Given the description of an element on the screen output the (x, y) to click on. 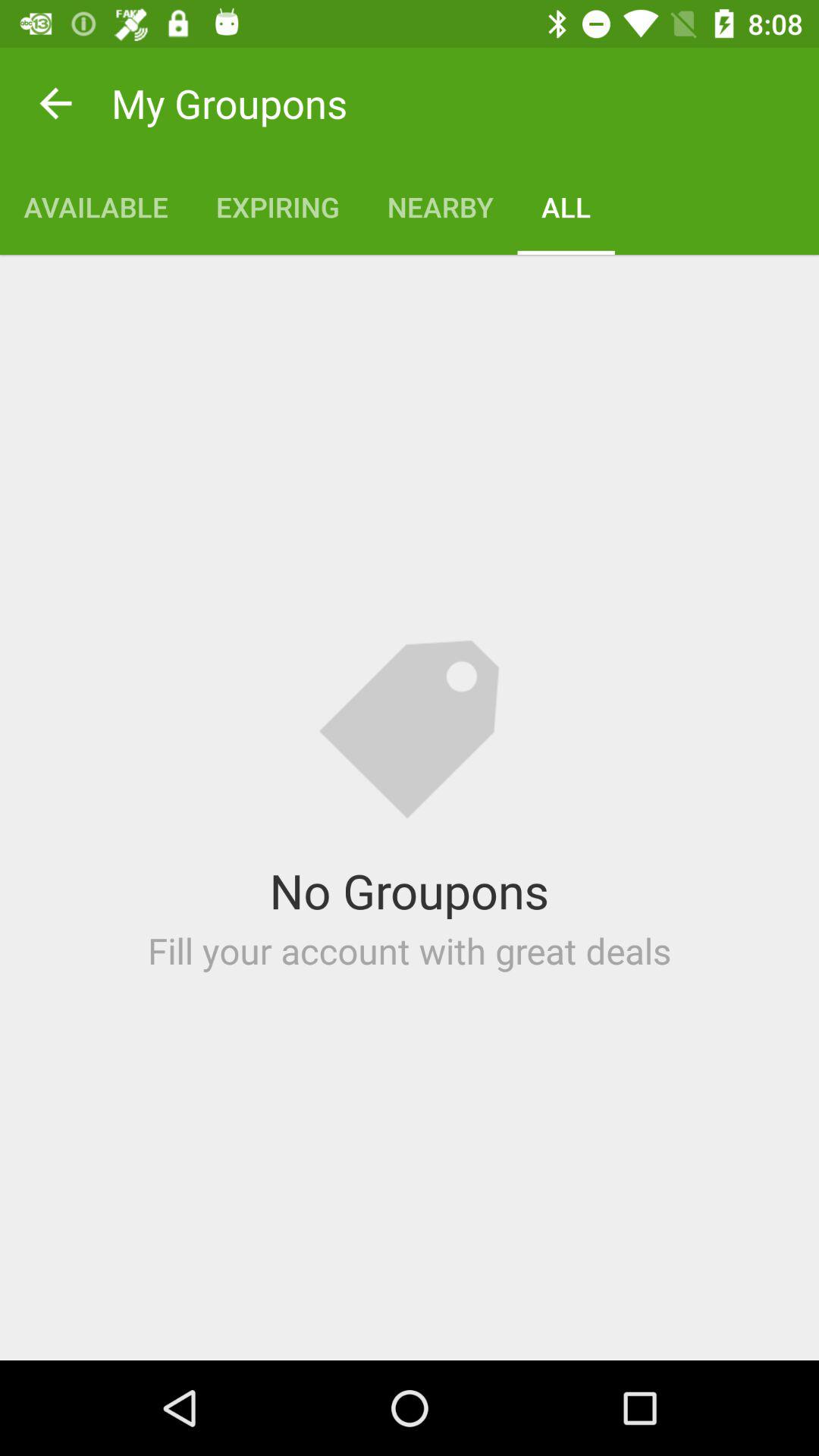
choose app to the right of the expiring item (440, 206)
